Given the description of an element on the screen output the (x, y) to click on. 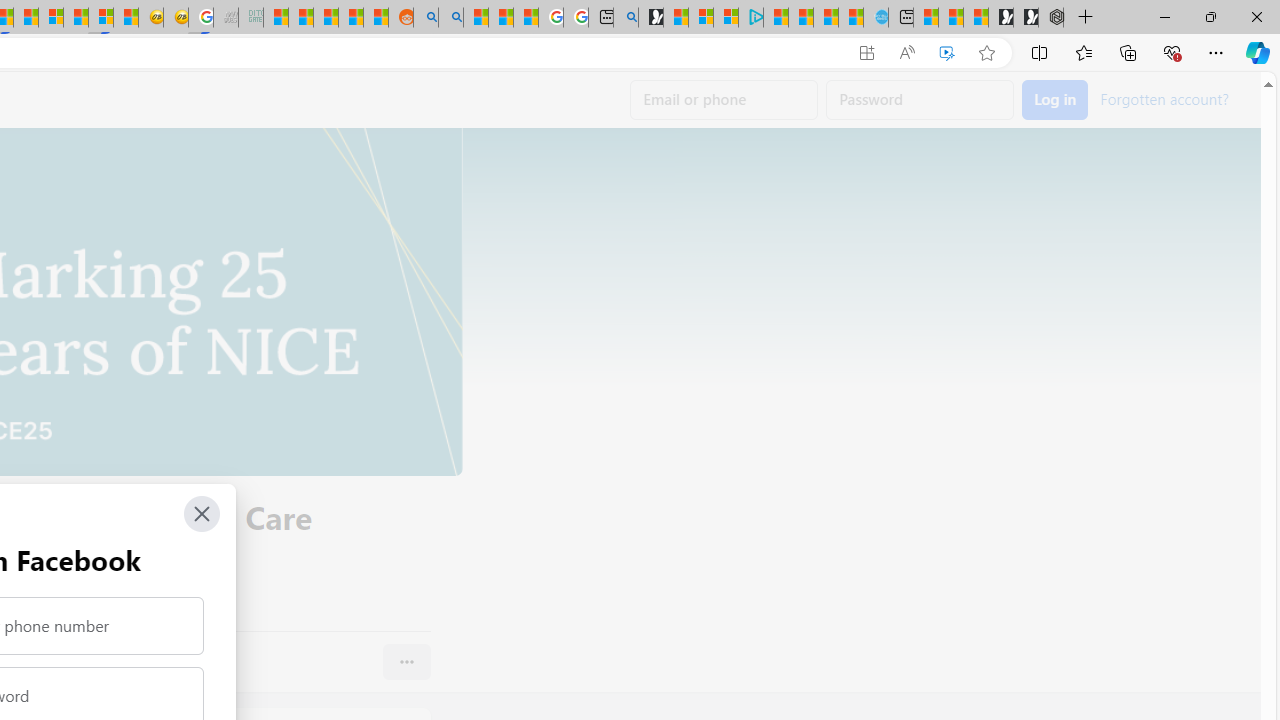
Play Free Online Games | Games from Microsoft Start (1025, 17)
MSNBC - MSN (275, 17)
Forgotten account? (1163, 97)
Email or phone (724, 99)
Accessible login button (1055, 99)
Student Loan Update: Forgiveness Program Ends This Month (351, 17)
